Given the description of an element on the screen output the (x, y) to click on. 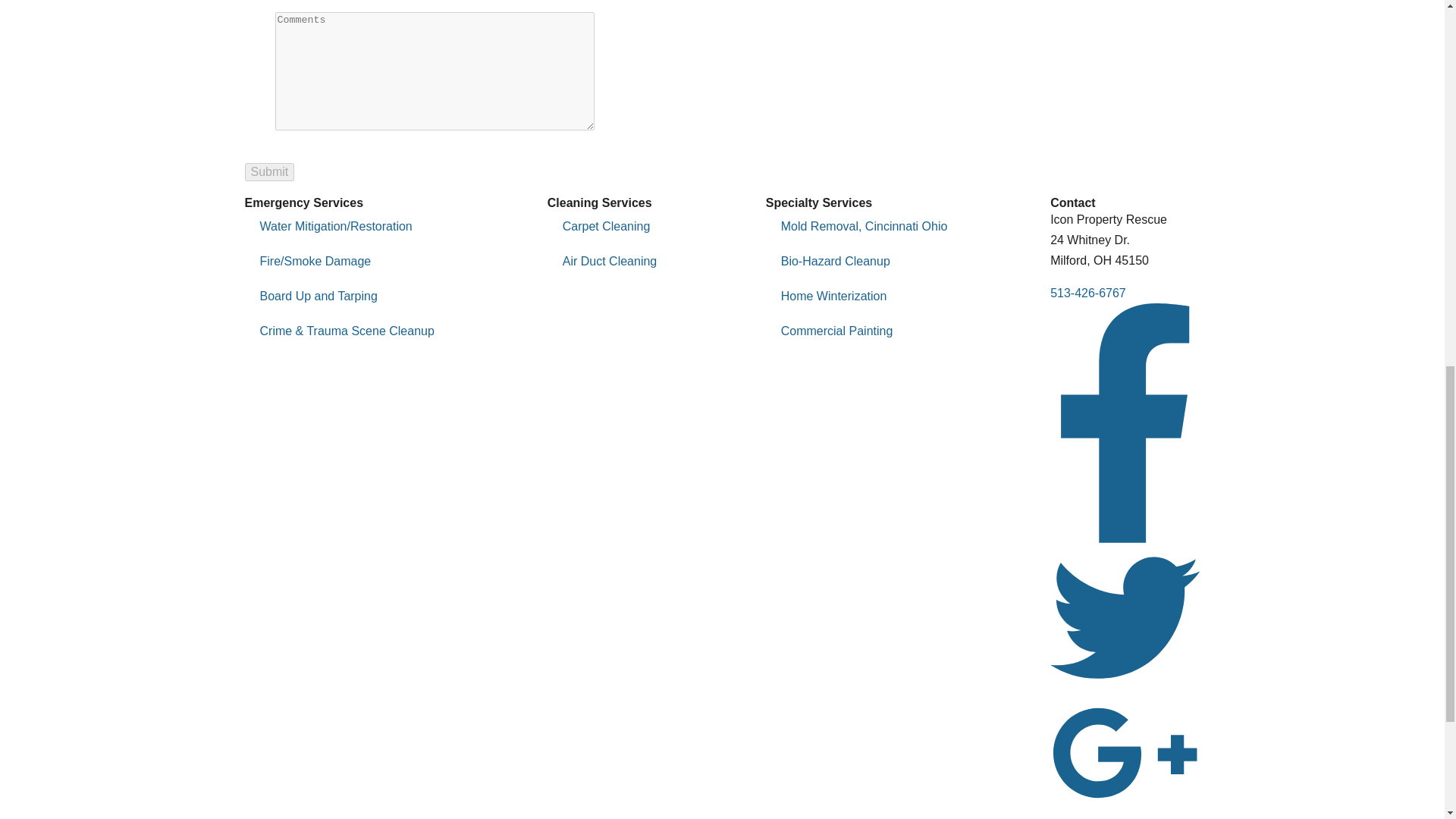
Submit (269, 171)
